Given the description of an element on the screen output the (x, y) to click on. 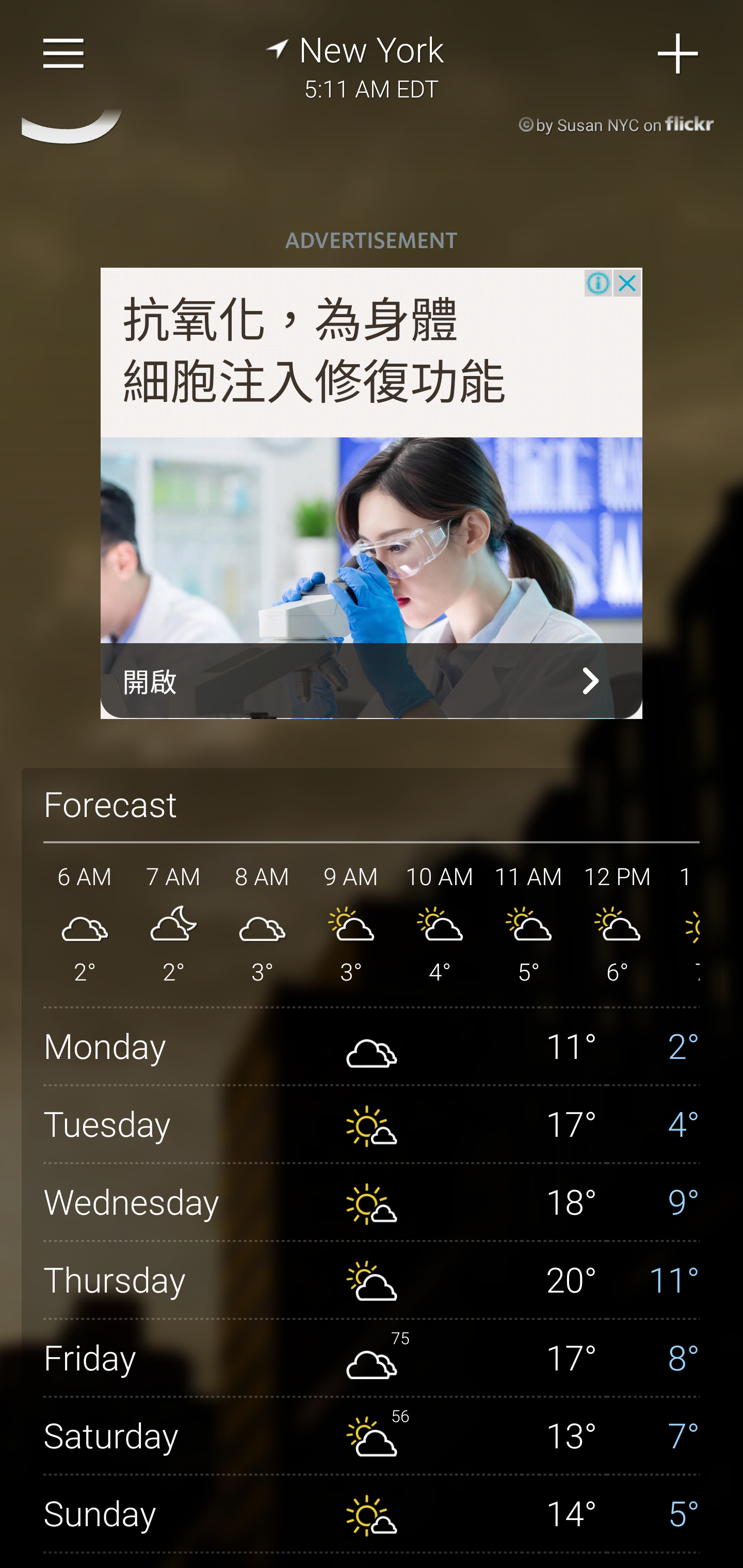
Sidebar (64, 54)
Add City (678, 53)
抗氧化，為身體 細胞注入修復功能 抗氧化，為身體 
 細胞注入修復功能 (314, 351)
開啟 (371, 680)
